Given the description of an element on the screen output the (x, y) to click on. 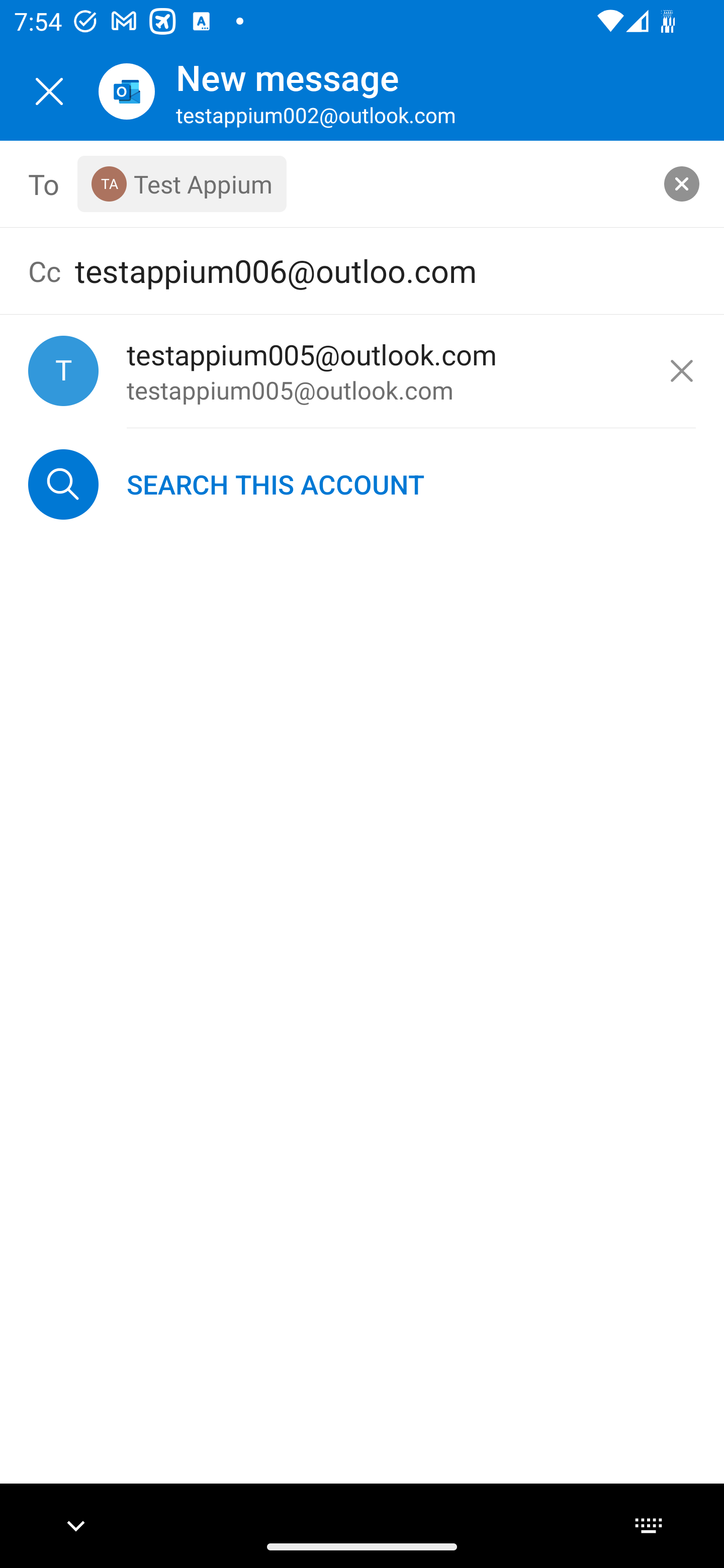
Close (49, 91)
clear search (681, 183)
testappium006@outloo.com (384, 270)
